Given the description of an element on the screen output the (x, y) to click on. 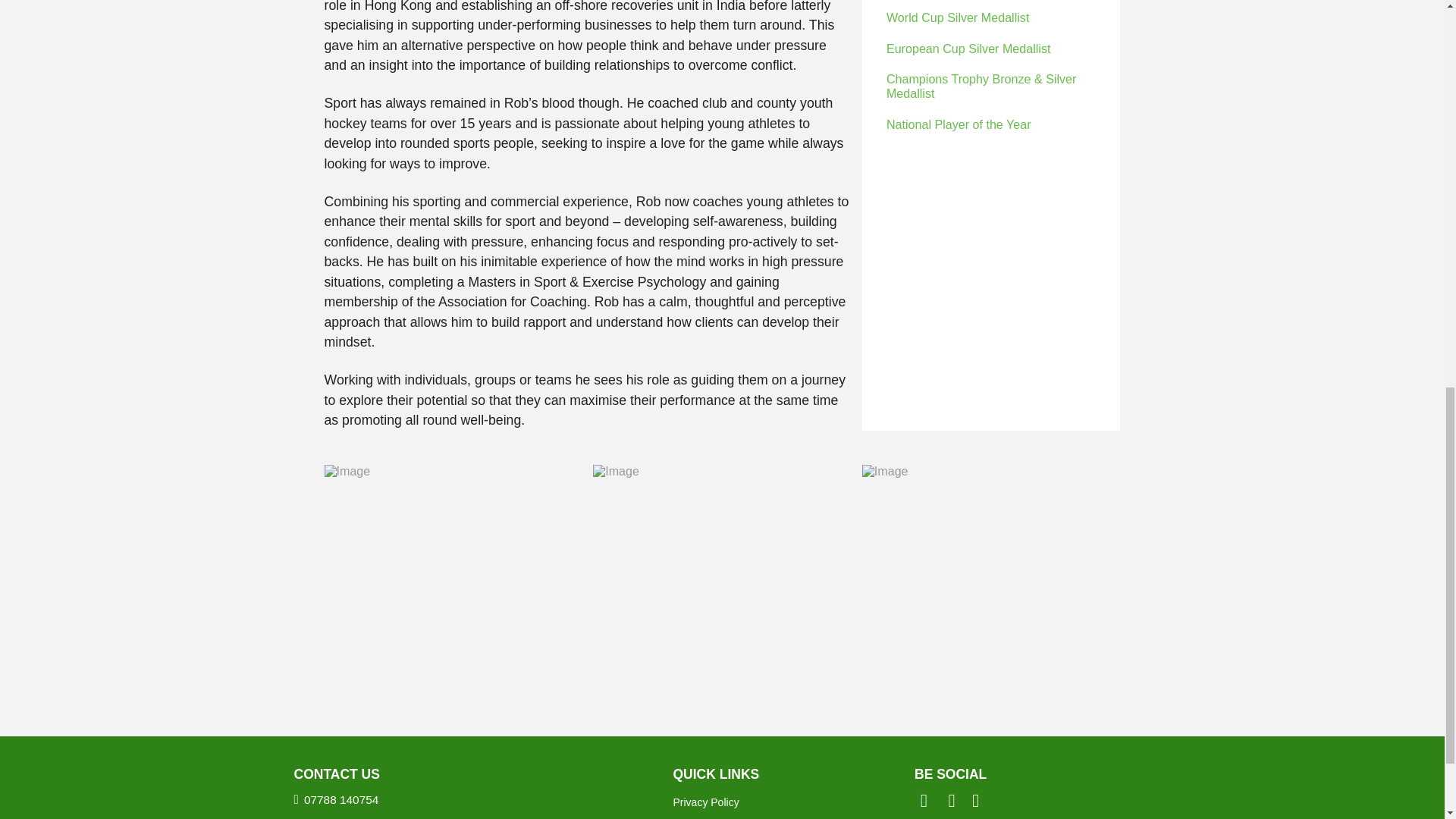
Terms and Conditions (791, 816)
Privacy Policy (791, 802)
